Given the description of an element on the screen output the (x, y) to click on. 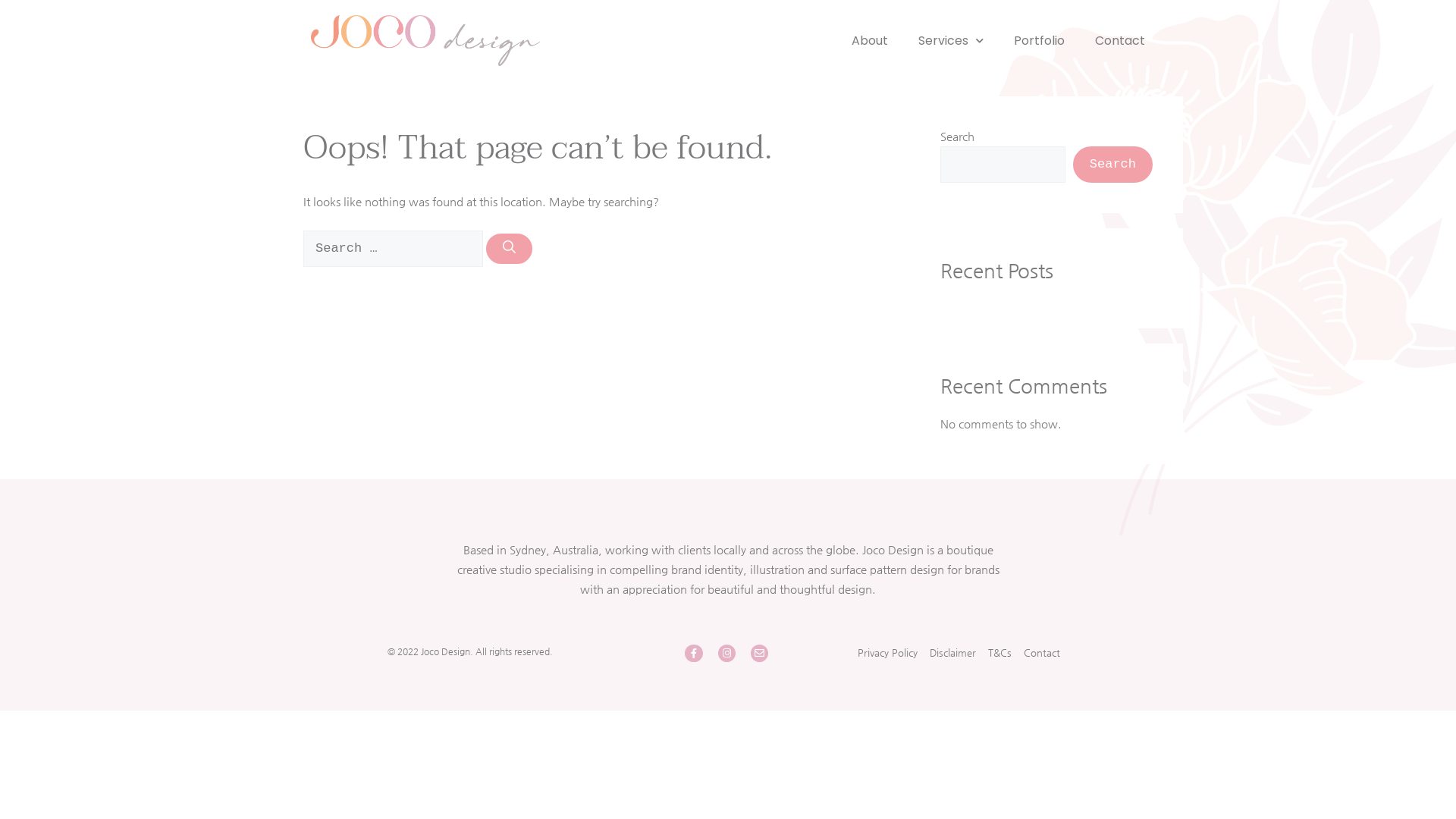
T&Cs Element type: text (999, 652)
Services Element type: text (950, 40)
Search for: Element type: hover (393, 248)
Contact Element type: text (1120, 40)
Contact Element type: text (1041, 652)
Privacy Policy Element type: text (887, 652)
About Element type: text (869, 40)
Search Element type: text (1112, 164)
Portfolio Element type: text (1038, 40)
Disclaimer Element type: text (952, 652)
